Given the description of an element on the screen output the (x, y) to click on. 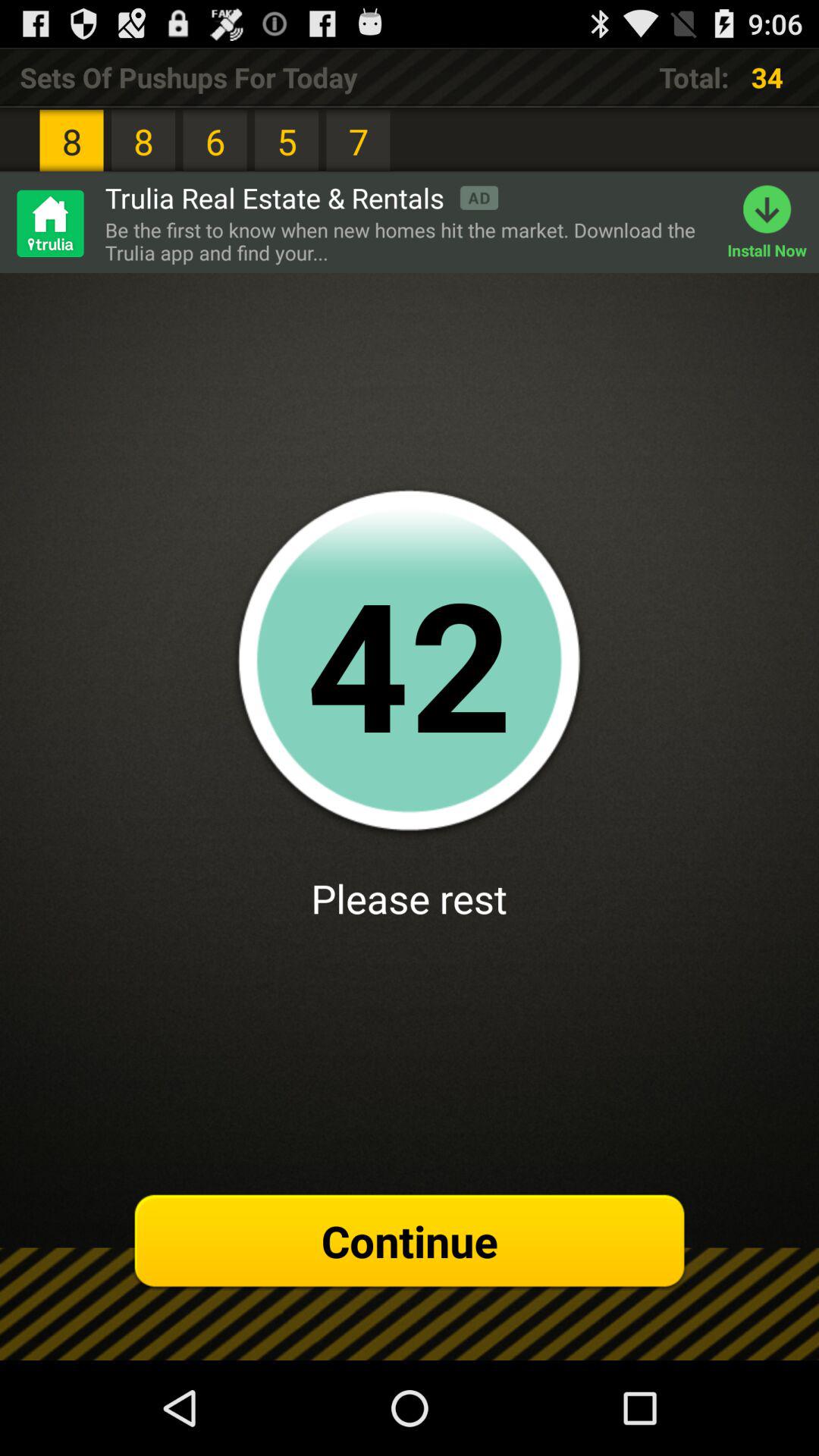
jump until the trulia real estate item (301, 197)
